Given the description of an element on the screen output the (x, y) to click on. 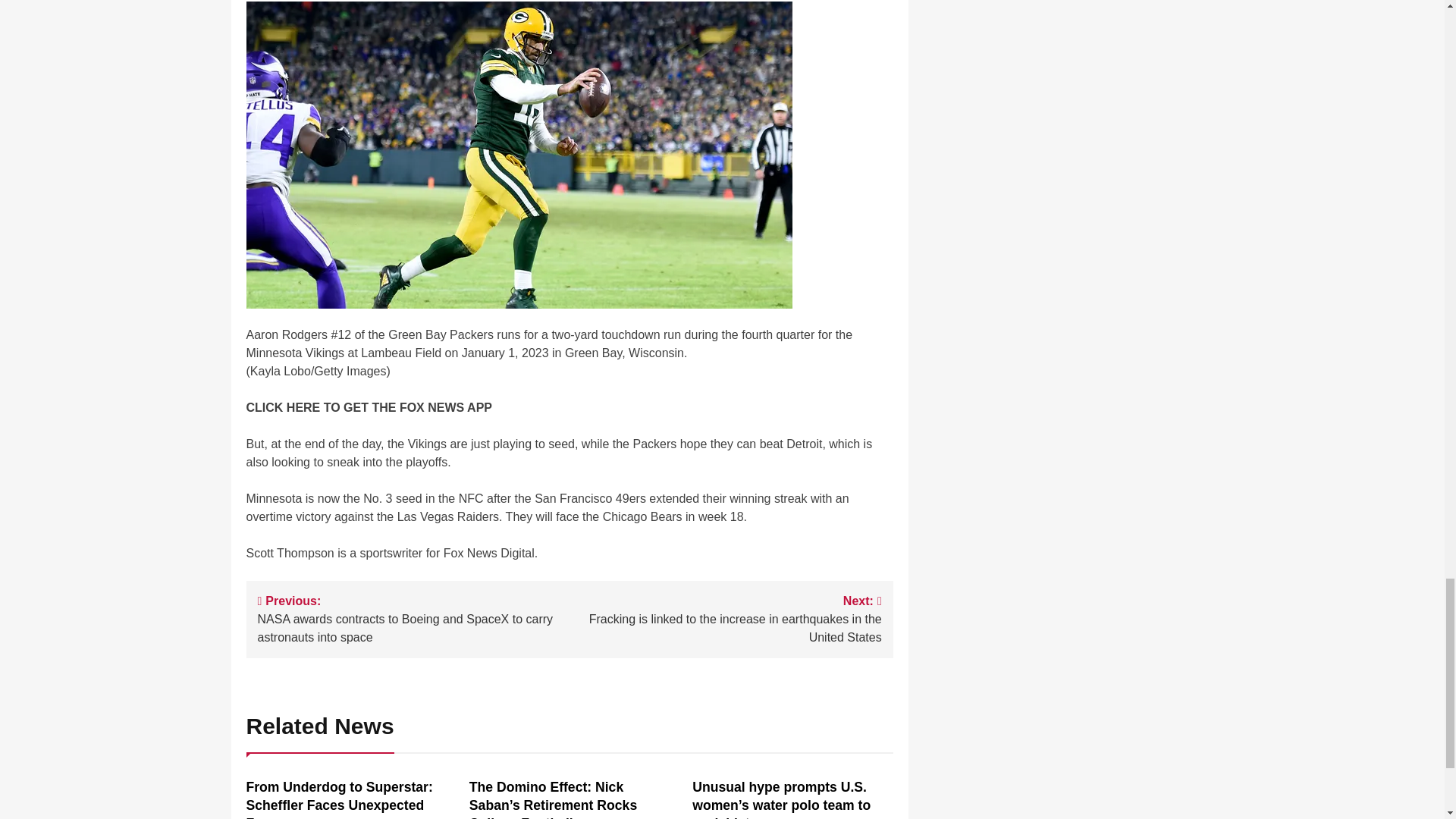
From Underdog to Superstar: Scheffler Faces Unexpected Fame (339, 799)
